Given the description of an element on the screen output the (x, y) to click on. 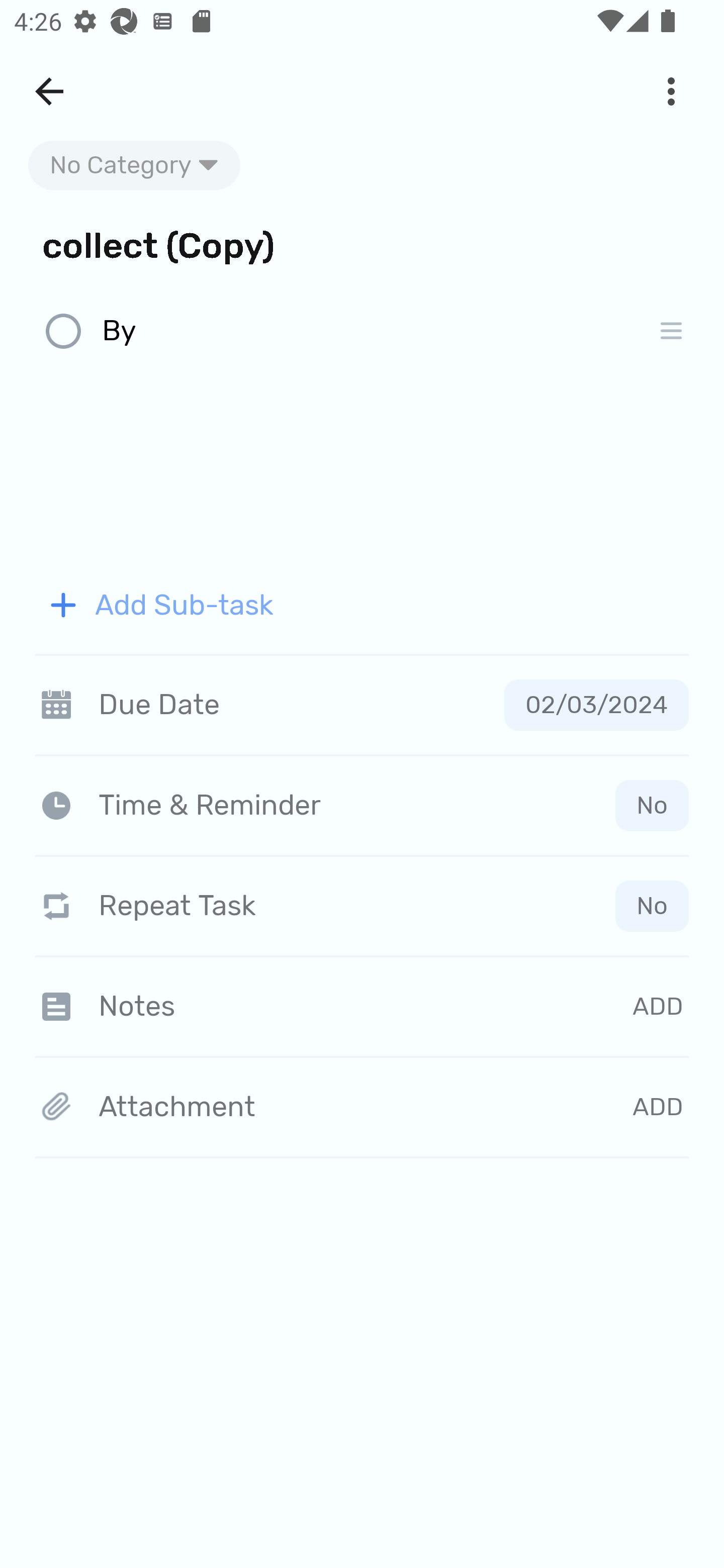
No Category (134, 165)
collect (Copy) (362, 244)
By (366, 331)
Add Sub-task (362, 604)
Due Date 02/03/2024 (362, 704)
Time & Reminder No (365, 804)
Repeat Task No (362, 905)
Notes ADD (362, 1006)
Attachment ADD (362, 1107)
